Given the description of an element on the screen output the (x, y) to click on. 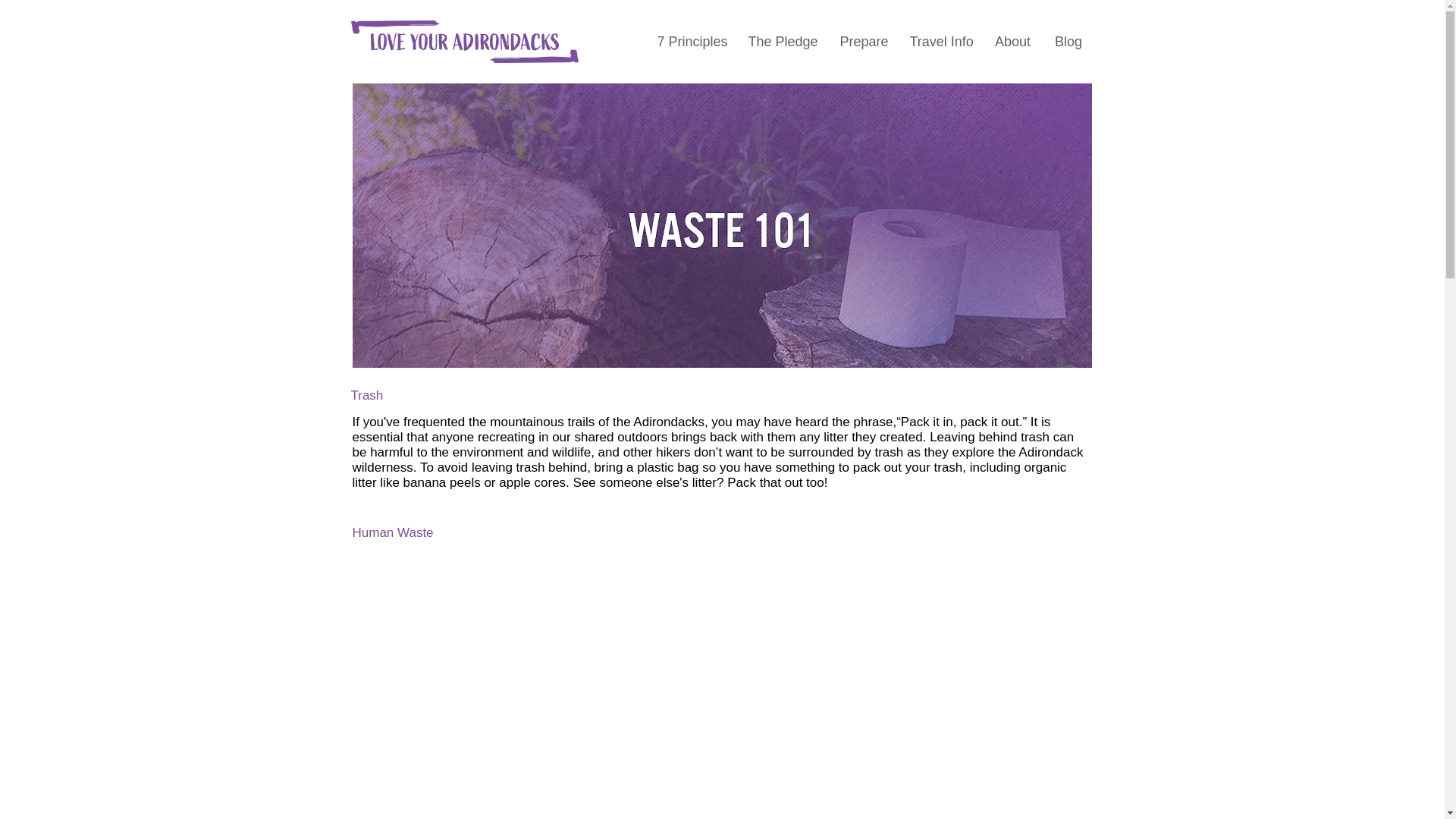
About (1012, 41)
Blog (1068, 41)
7 Principles (691, 41)
The Pledge (782, 41)
